Given the description of an element on the screen output the (x, y) to click on. 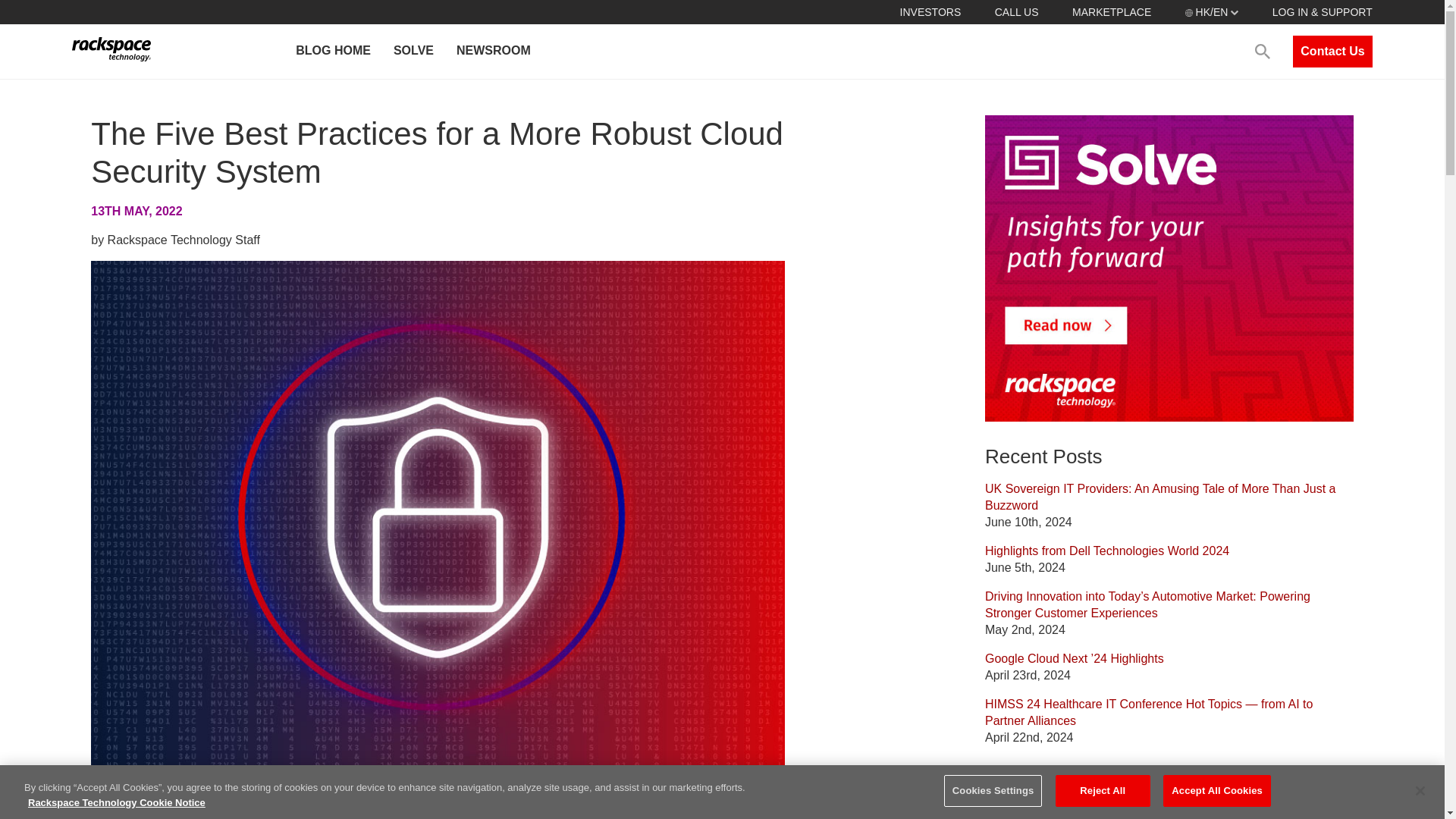
Highlights from Dell Technologies World 2024 (1106, 550)
CALL US (1016, 11)
Blog Home (1015, 816)
NEWSROOM (493, 51)
MARKETPLACE (1111, 11)
INVESTORS (929, 11)
Contact Us (1331, 51)
BLOG HOME (332, 51)
SOLVE (413, 51)
